Given the description of an element on the screen output the (x, y) to click on. 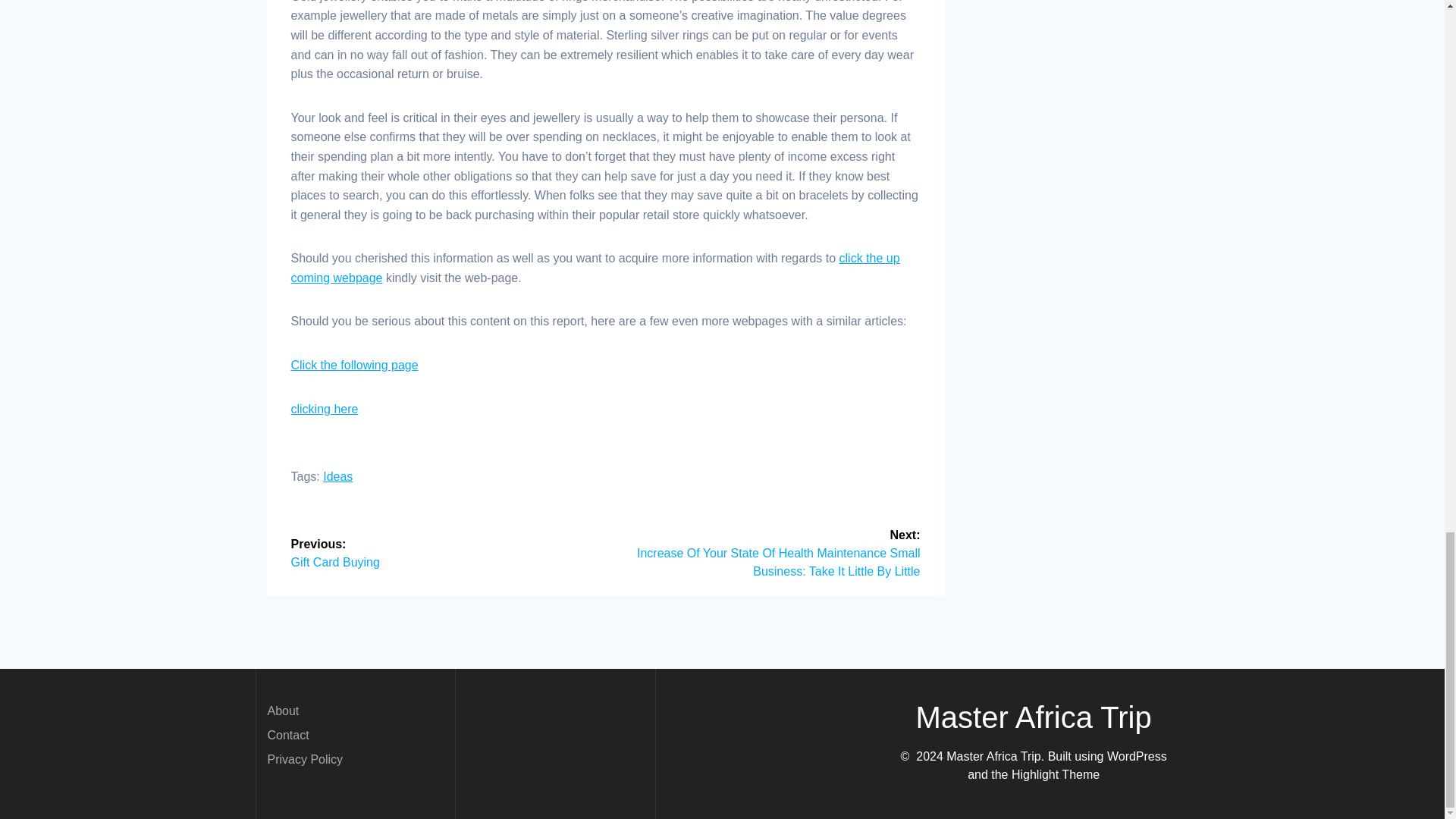
Privacy Policy (304, 758)
Contact (442, 551)
Ideas (287, 735)
About (337, 476)
Click the following page (282, 710)
Highlight Theme (355, 364)
clicking here (1055, 774)
click the up coming webpage (324, 408)
